Given the description of an element on the screen output the (x, y) to click on. 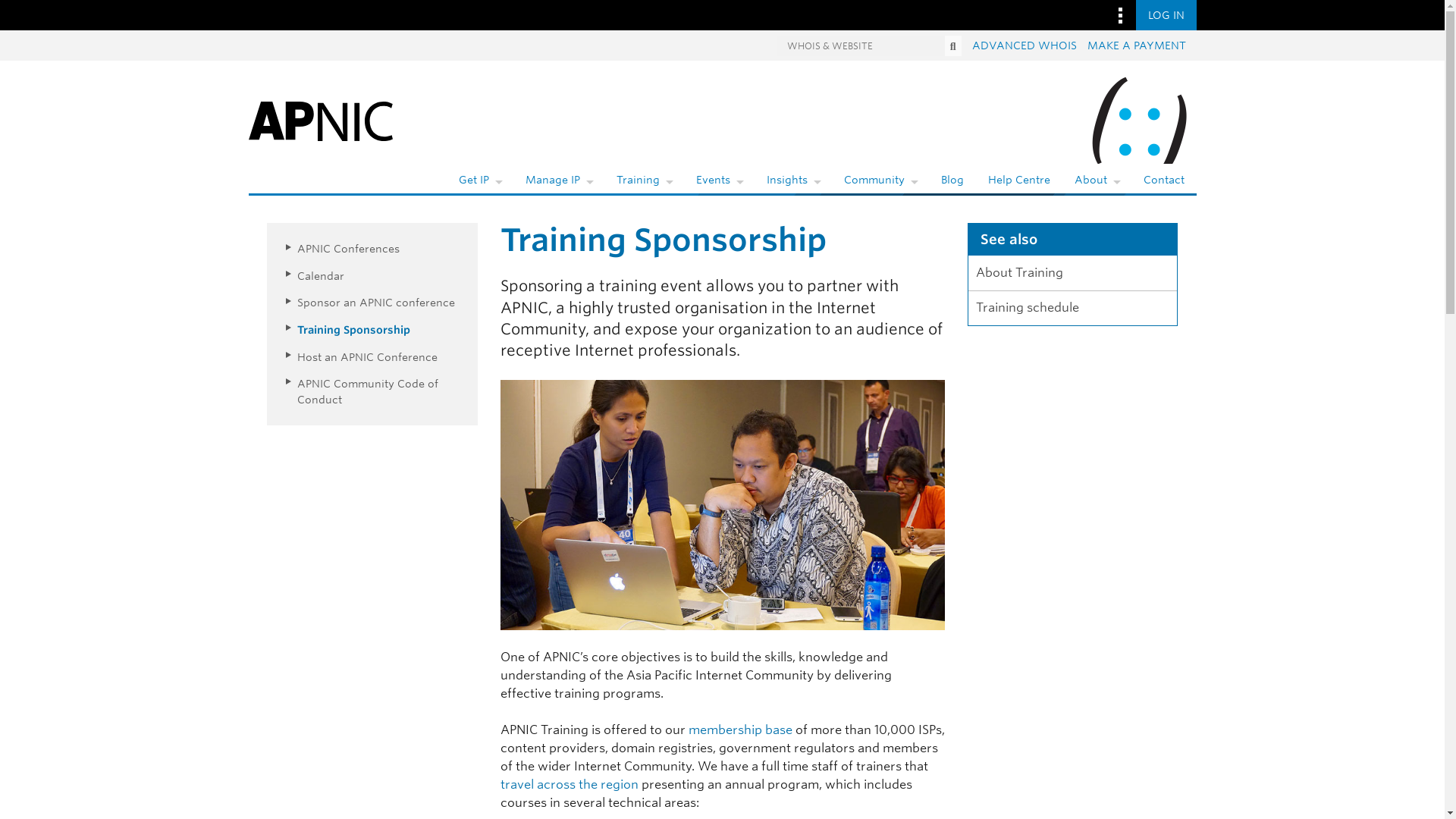
LOG IN (1165, 15)
ADVANCED WHOIS (1024, 45)
MAKE A PAYMENT (1136, 45)
